Given the description of an element on the screen output the (x, y) to click on. 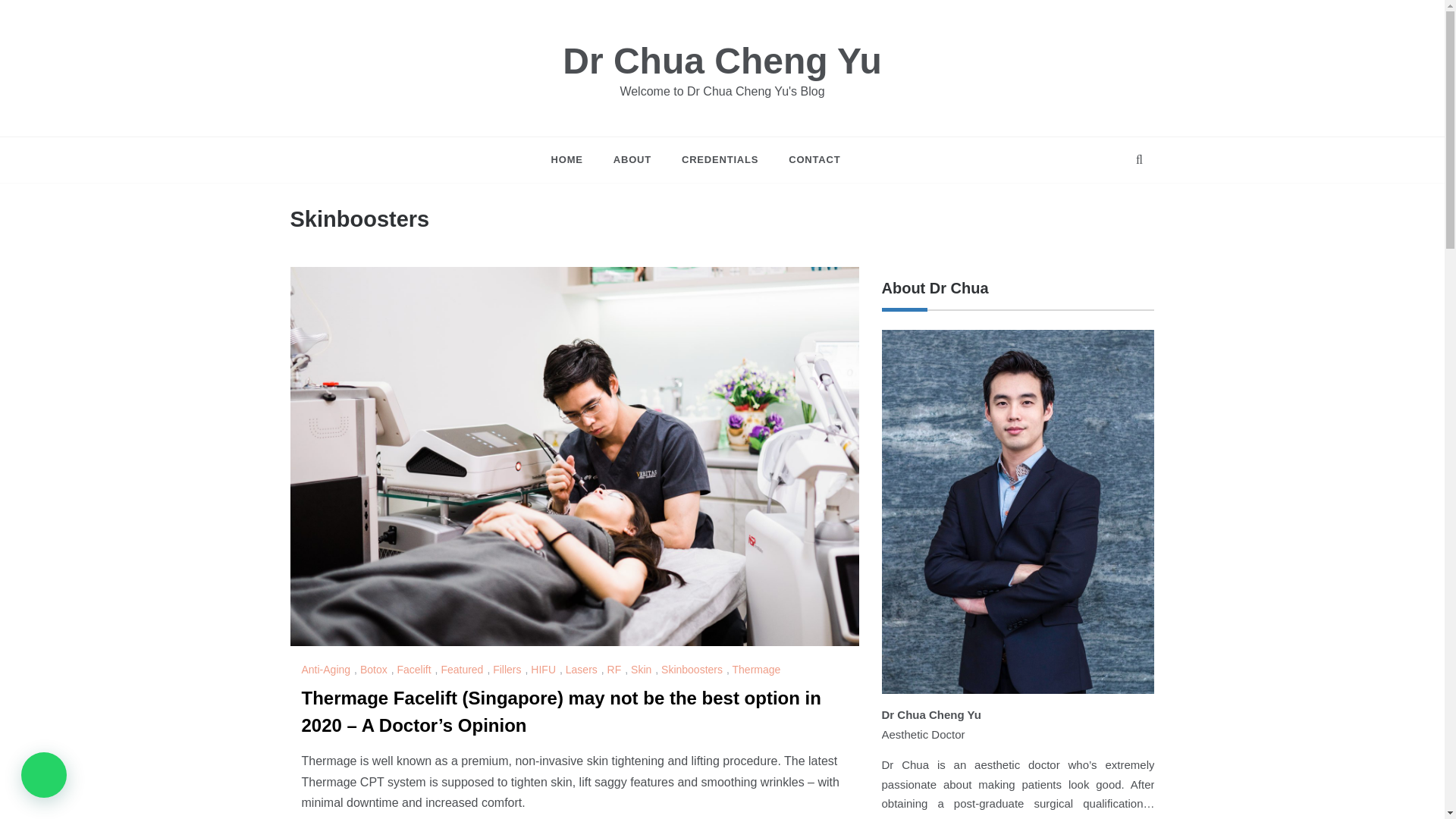
Facelift (414, 669)
Anti-Aging (328, 669)
CREDENTIALS (719, 159)
Dr Chua Cheng Yu (722, 60)
CONTACT (806, 159)
Thermage (758, 669)
ABOUT (632, 159)
HIFU (545, 669)
HOME (574, 159)
Botox (375, 669)
